Given the description of an element on the screen output the (x, y) to click on. 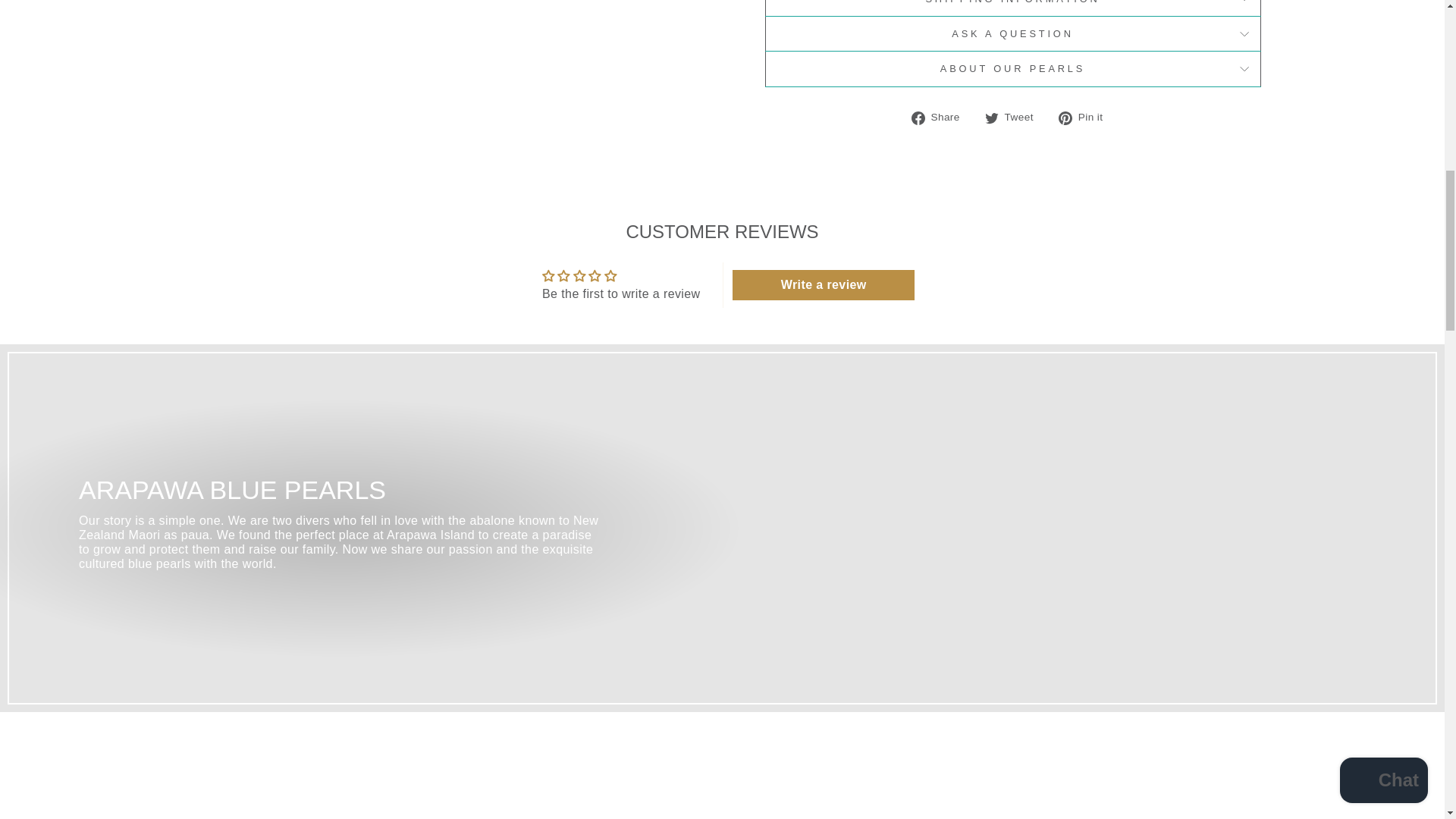
Tweet on Twitter (1015, 117)
Share on Facebook (941, 117)
Pin on Pinterest (1085, 117)
